Given the description of an element on the screen output the (x, y) to click on. 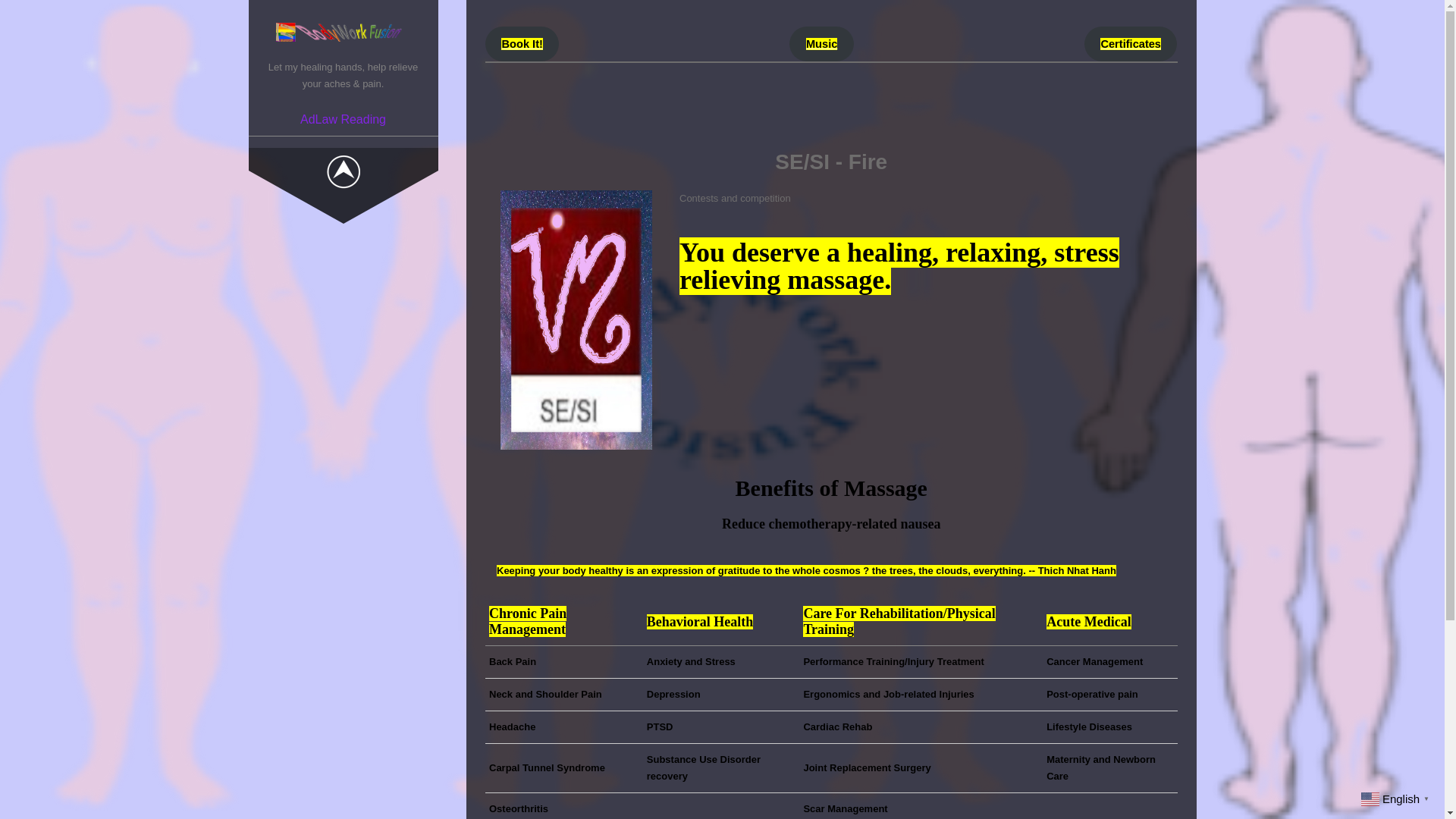
Reduce chemotherapy-related nausea (831, 548)
Neck and Shoulder Pain (545, 694)
Improve quality of life in hospice care (830, 610)
Anxiety and Stress (690, 661)
Post-operative pain (1092, 694)
Decrease migraine frequency (830, 672)
Certificates (1130, 43)
Back Pain (512, 661)
Music (821, 43)
Book It! (521, 43)
Lower joint replacement pain (830, 795)
Cancer Management (1094, 661)
